Given the description of an element on the screen output the (x, y) to click on. 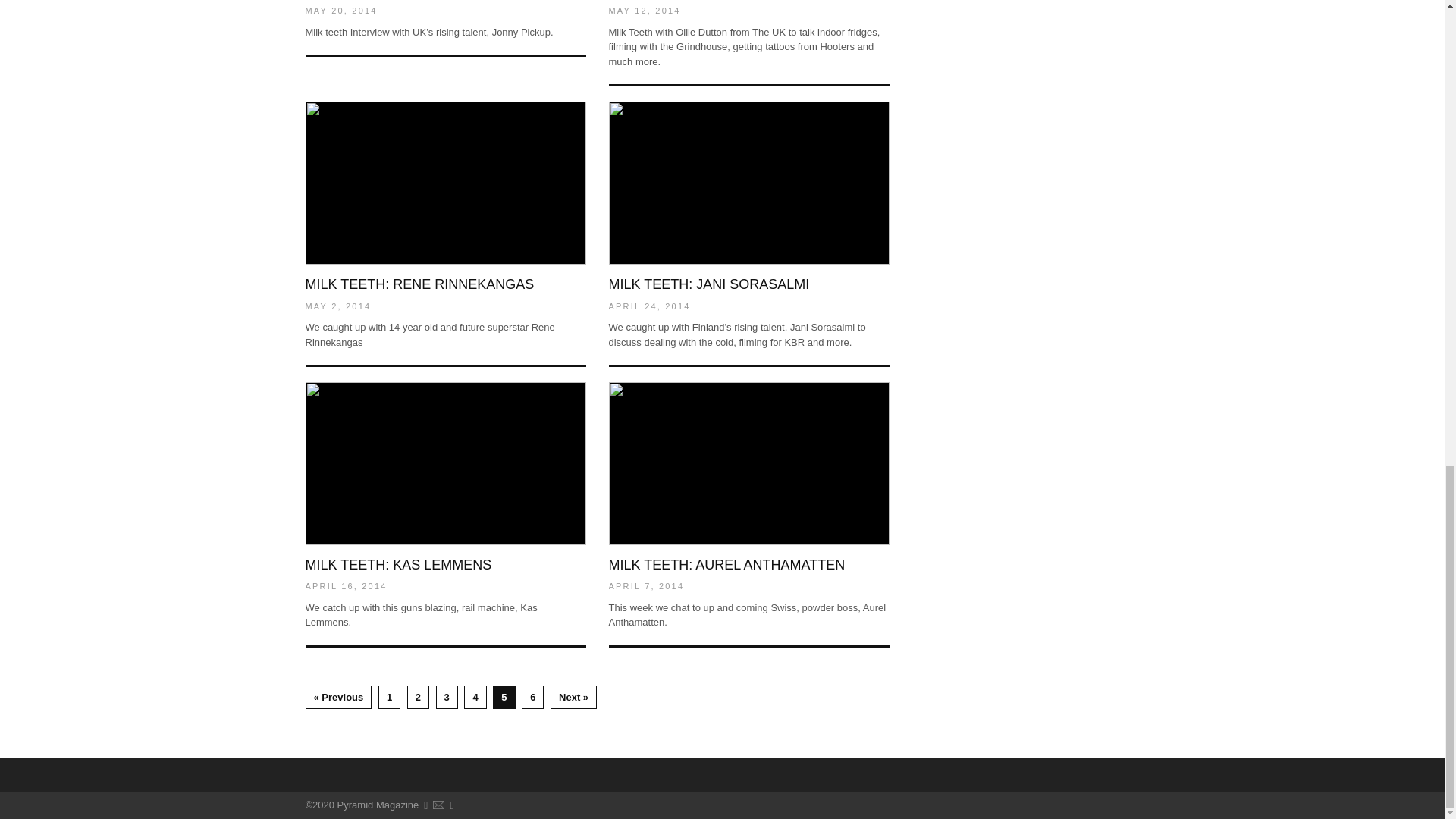
MILK TEETH: AUREL ANTHAMATTEN (726, 564)
MILK TEETH: JANI SORASALMI (708, 283)
2 (418, 697)
MILK TEETH: RENE RINNEKANGAS (419, 283)
1 (389, 697)
MILK TEETH: KAS LEMMENS (398, 564)
6 (532, 697)
3 (446, 697)
4 (475, 697)
